Given the description of an element on the screen output the (x, y) to click on. 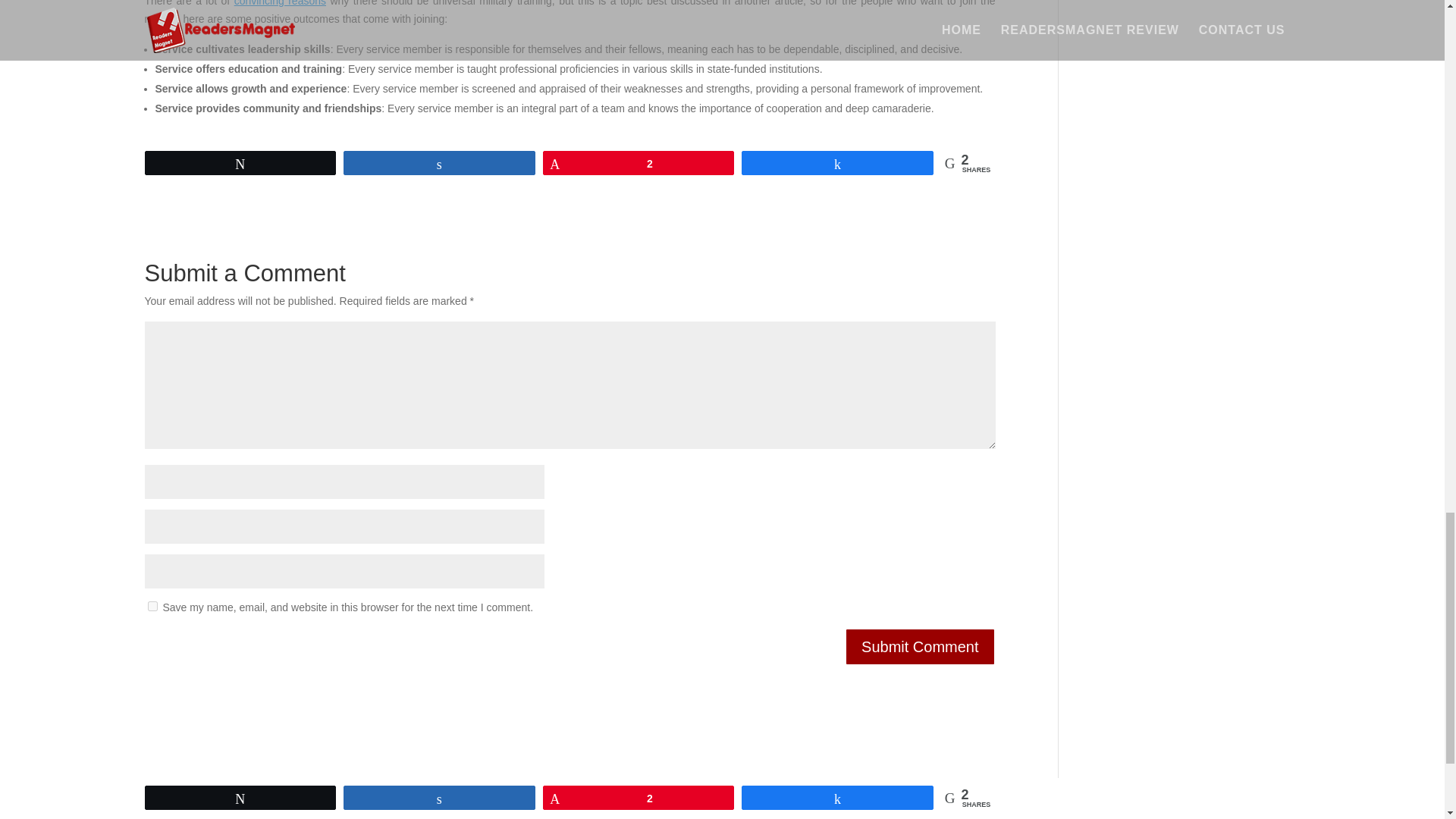
ReadersMagnet Marketing World (1178, 811)
ReadersMagnet reviews (1178, 811)
ReadersMagnet (553, 813)
Submit Comment (919, 646)
Submit Comment (919, 646)
yes (152, 605)
ReadersMagnet Self-Publishing Company (553, 813)
2 (638, 162)
convincing reasons (280, 3)
